Given the description of an element on the screen output the (x, y) to click on. 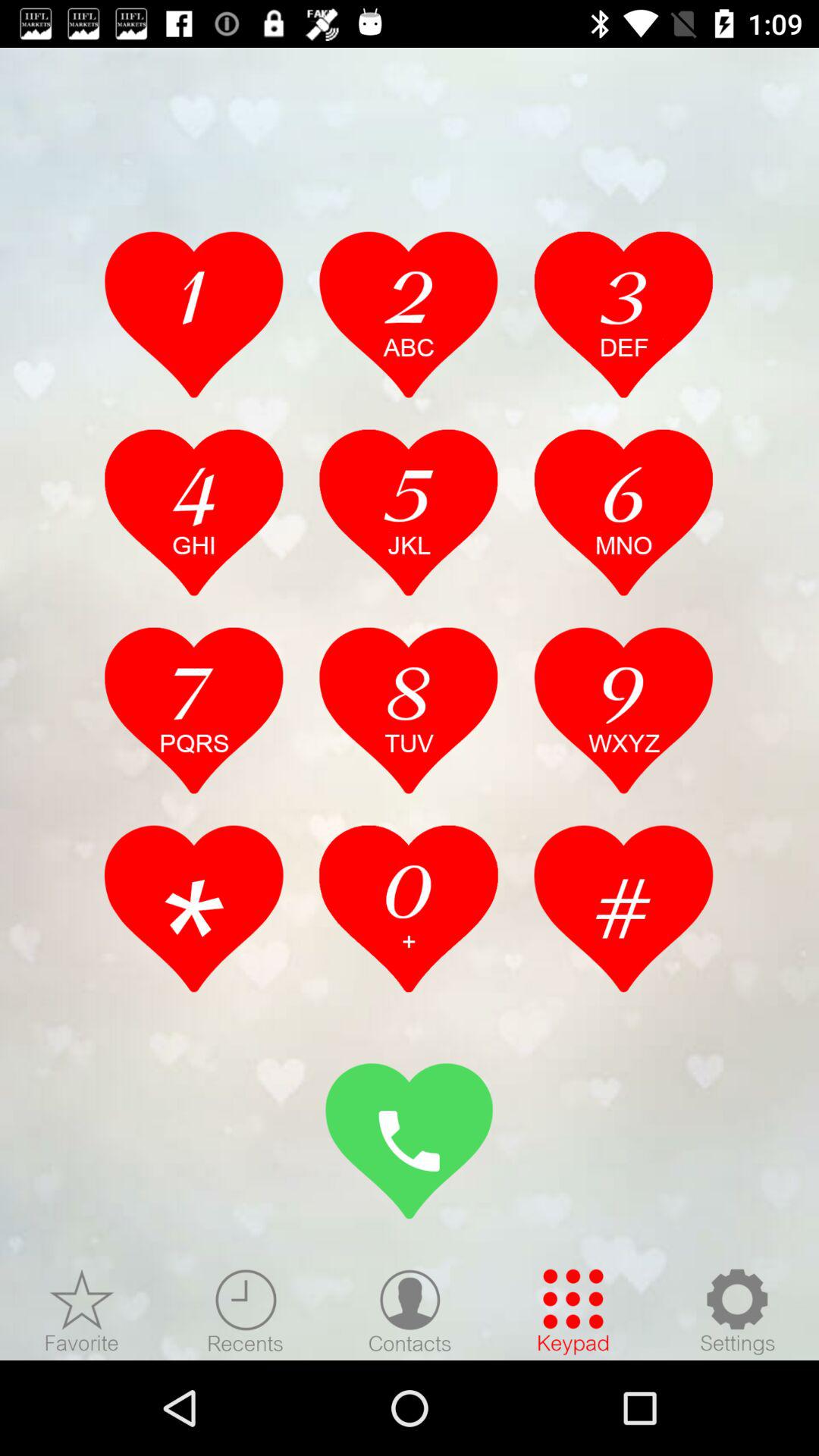
go to number option (408, 908)
